Given the description of an element on the screen output the (x, y) to click on. 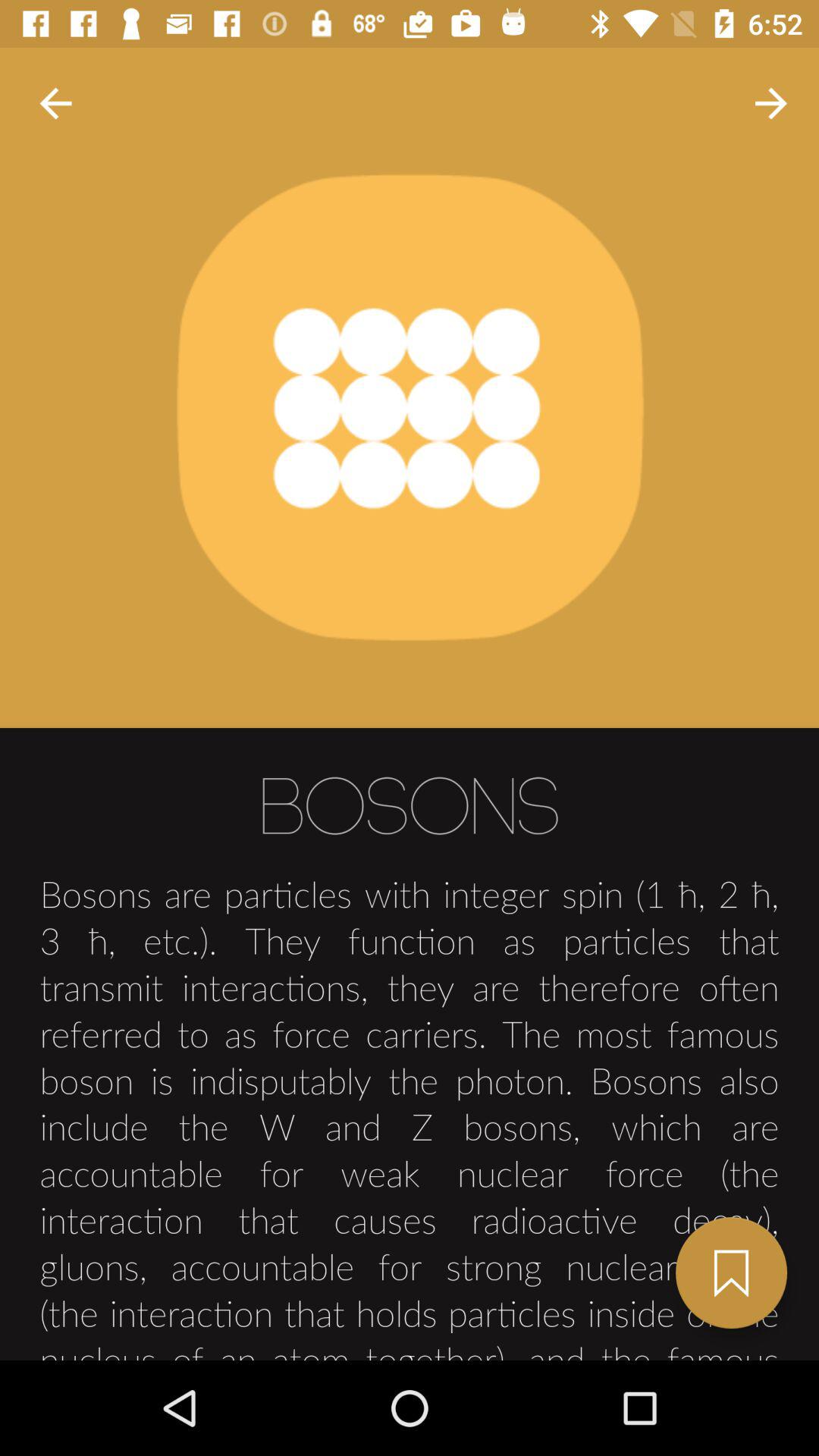
go the next (731, 1272)
